Given the description of an element on the screen output the (x, y) to click on. 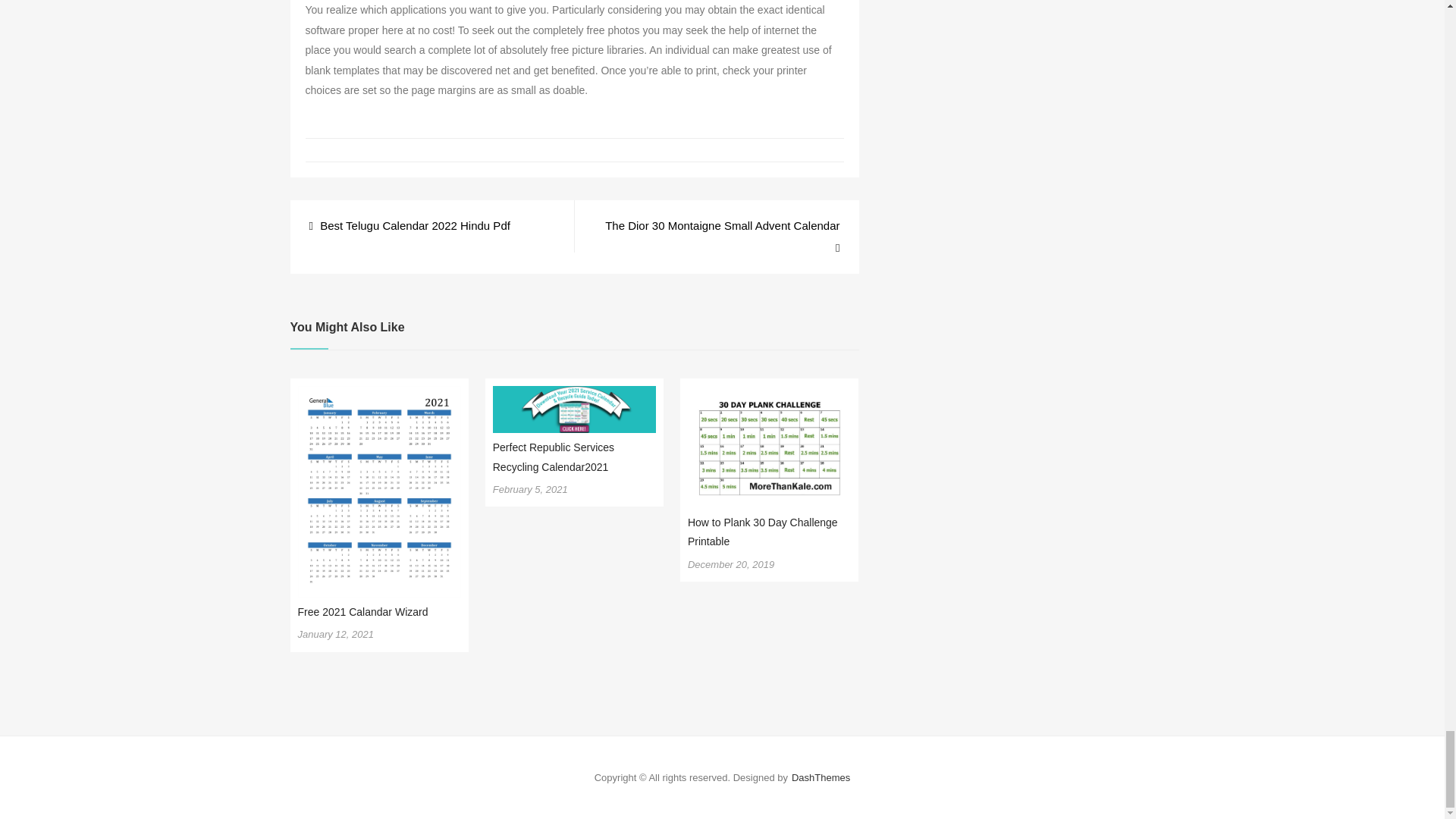
The Dior 30 Montaigne Small Advent Calendar (716, 236)
DashThemes (821, 777)
Best Telugu Calendar 2022 Hindu Pdf (409, 226)
How to Plank 30 Day Challenge Printable (762, 531)
Free 2021 Calandar Wizard (362, 612)
Perfect Republic Services Recycling Calendar2021 (553, 456)
